Given the description of an element on the screen output the (x, y) to click on. 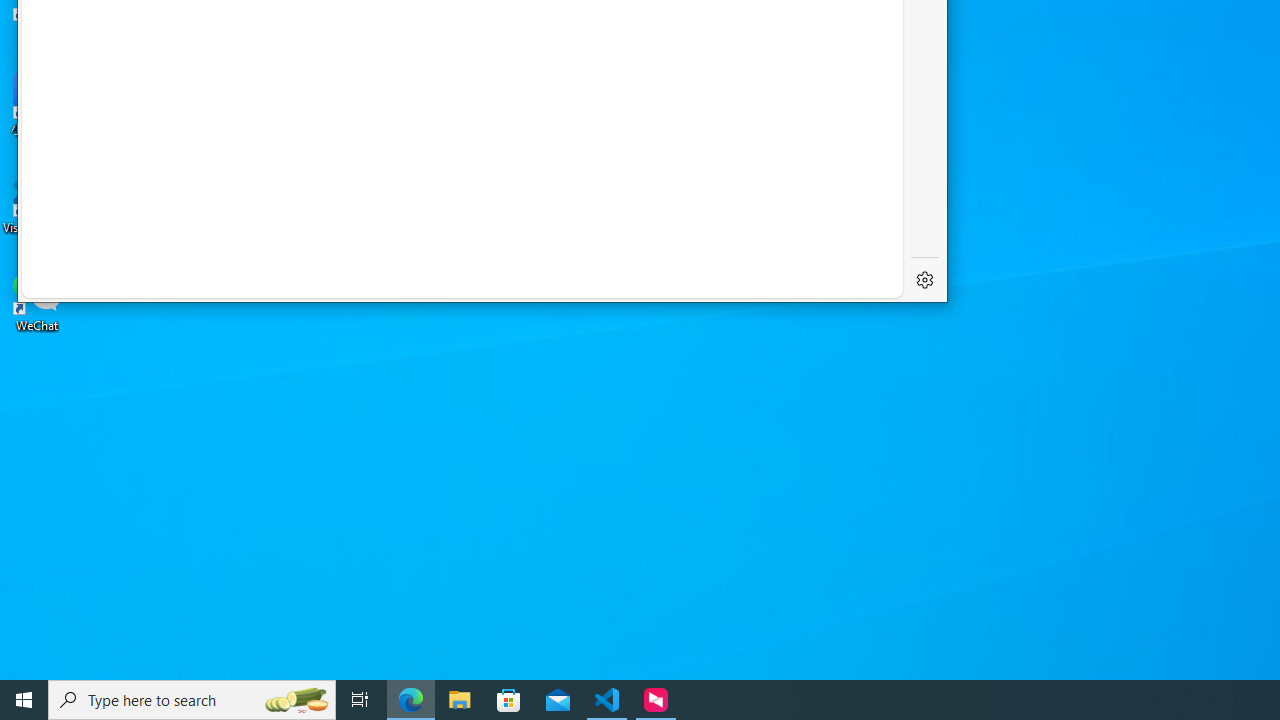
Visual Studio Code - 1 running window (607, 699)
Start (24, 699)
Microsoft Store (509, 699)
Microsoft Edge - 1 running window (411, 699)
File Explorer (460, 699)
Search highlights icon opens search home window (295, 699)
Type here to search (191, 699)
Task View (359, 699)
